Given the description of an element on the screen output the (x, y) to click on. 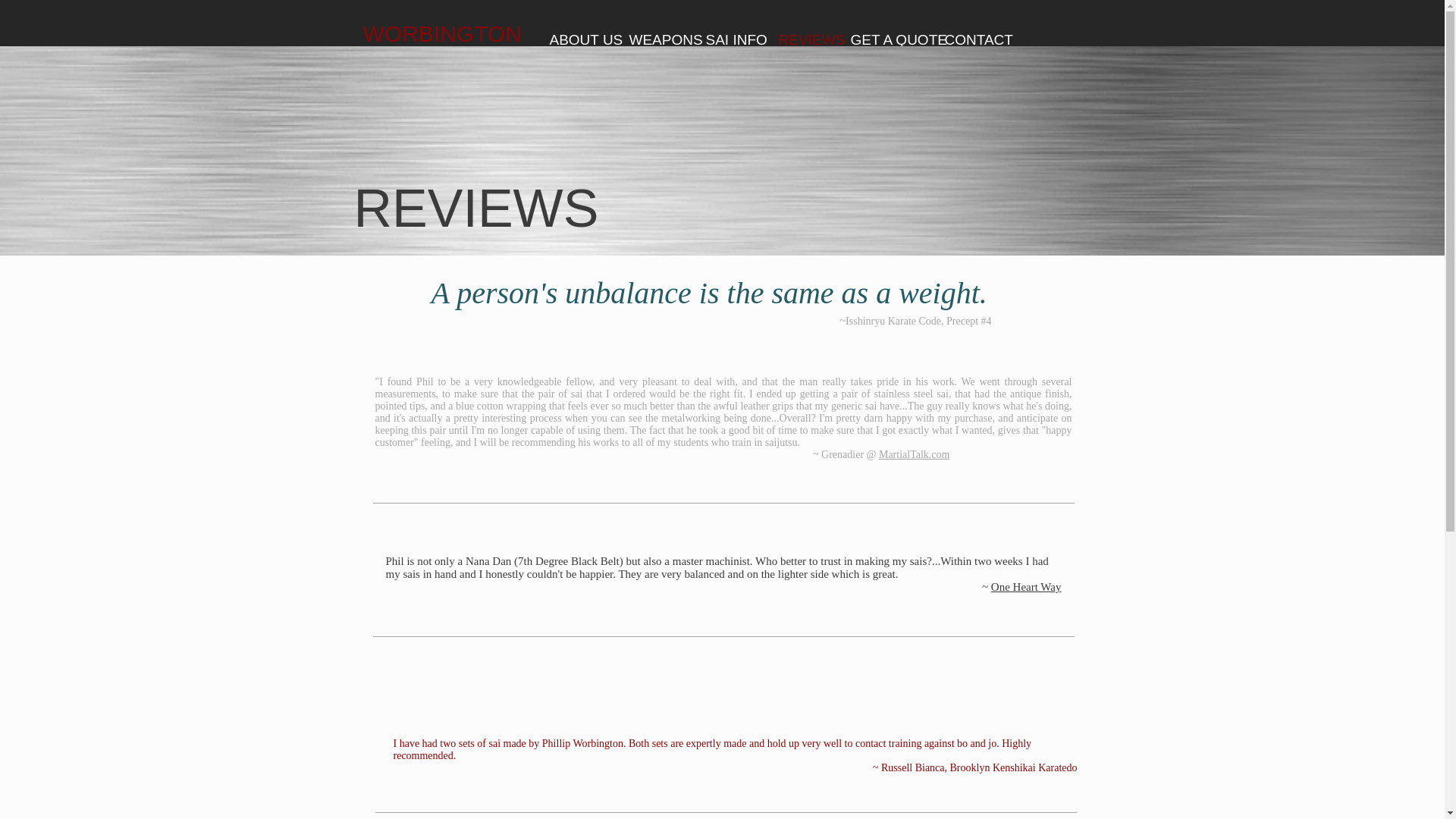
REVIEWS (803, 39)
ABOUT US (577, 39)
CONTACT (969, 39)
WEAPONS (655, 39)
One Heart Way (1026, 586)
SAI INFO (730, 39)
MartialTalk.com (914, 454)
GET A QUOTE (885, 39)
WORBINGTON STEELE (441, 46)
